Given the description of an element on the screen output the (x, y) to click on. 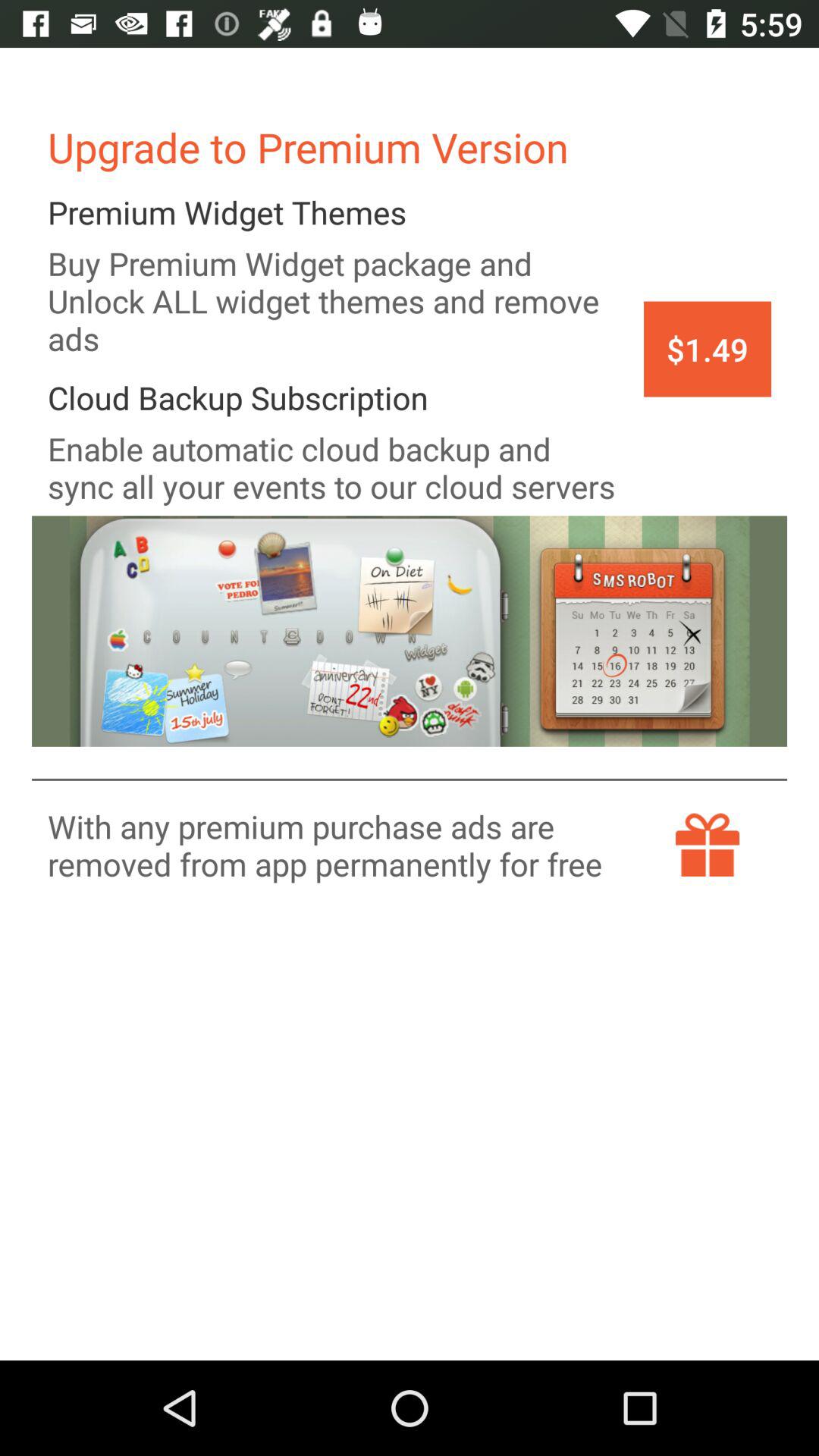
choose the icon to the right of the buy premium widget app (707, 348)
